Given the description of an element on the screen output the (x, y) to click on. 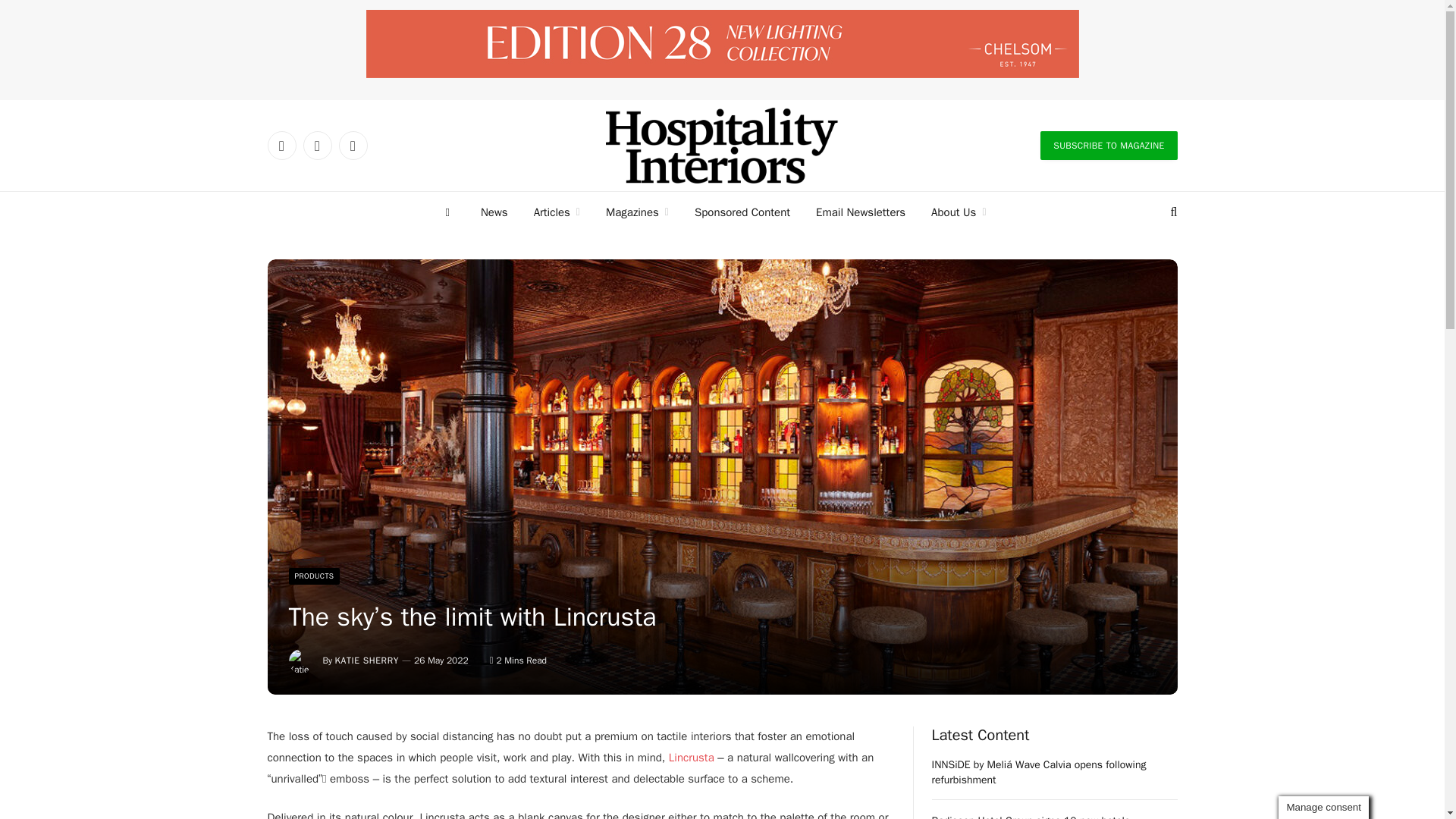
SUBSCRIBE TO MAGAZINE (1108, 145)
Articles (556, 211)
News (494, 211)
LinkedIn (280, 145)
Posts by Katie Sherry (366, 660)
Instagram (351, 145)
Hospitality Interiors (722, 144)
